Given the description of an element on the screen output the (x, y) to click on. 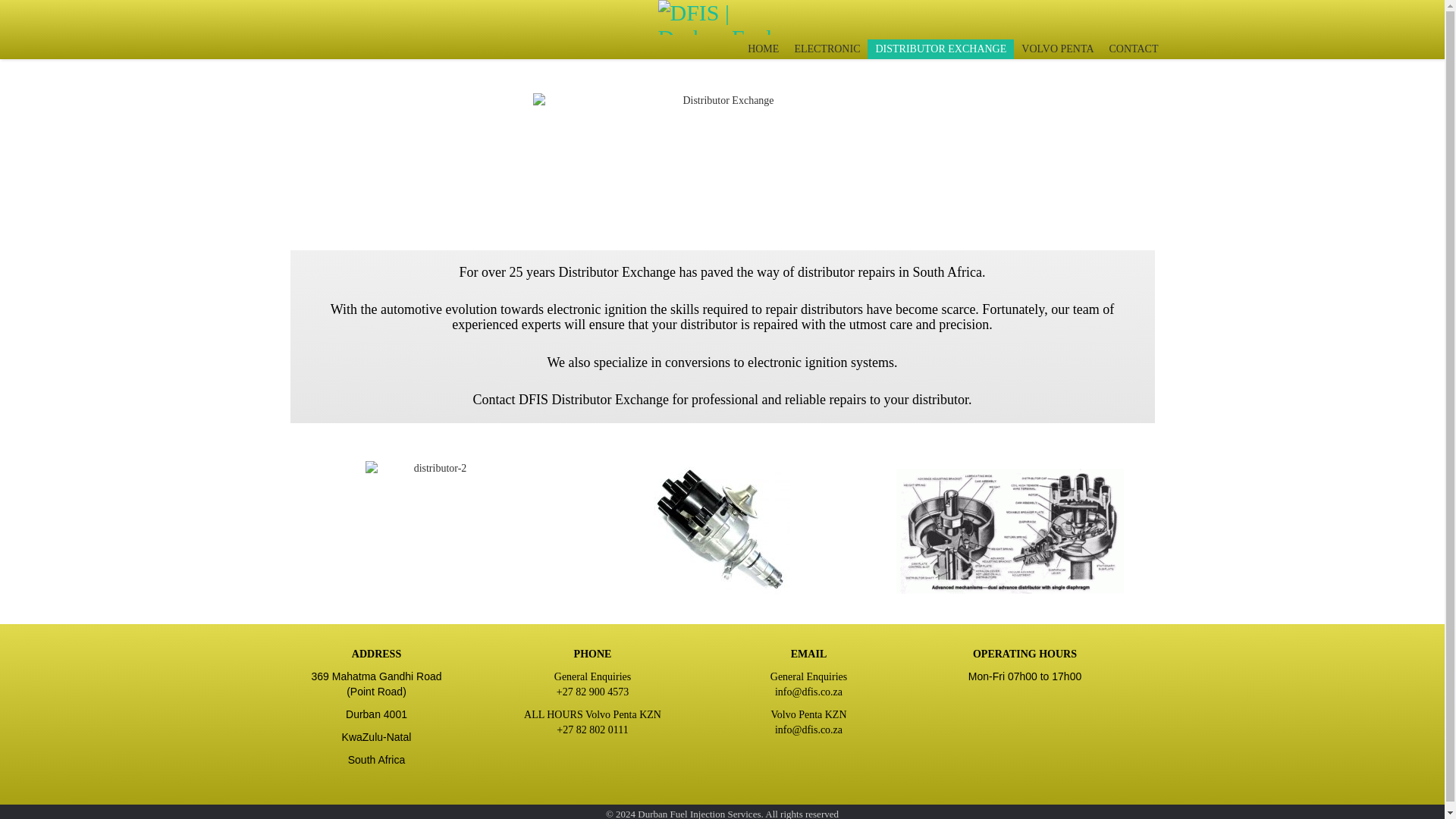
HOME (762, 48)
Distributor Exchange (721, 152)
distributor-2 (433, 530)
ELECTRONIC (826, 48)
DISTRIBUTOR EXCHANGE (940, 48)
CONTACT (1133, 48)
Durban Fuel Injection Services (721, 813)
distributor-3 (721, 530)
VOLVO PENTA (1056, 48)
